Given the description of an element on the screen output the (x, y) to click on. 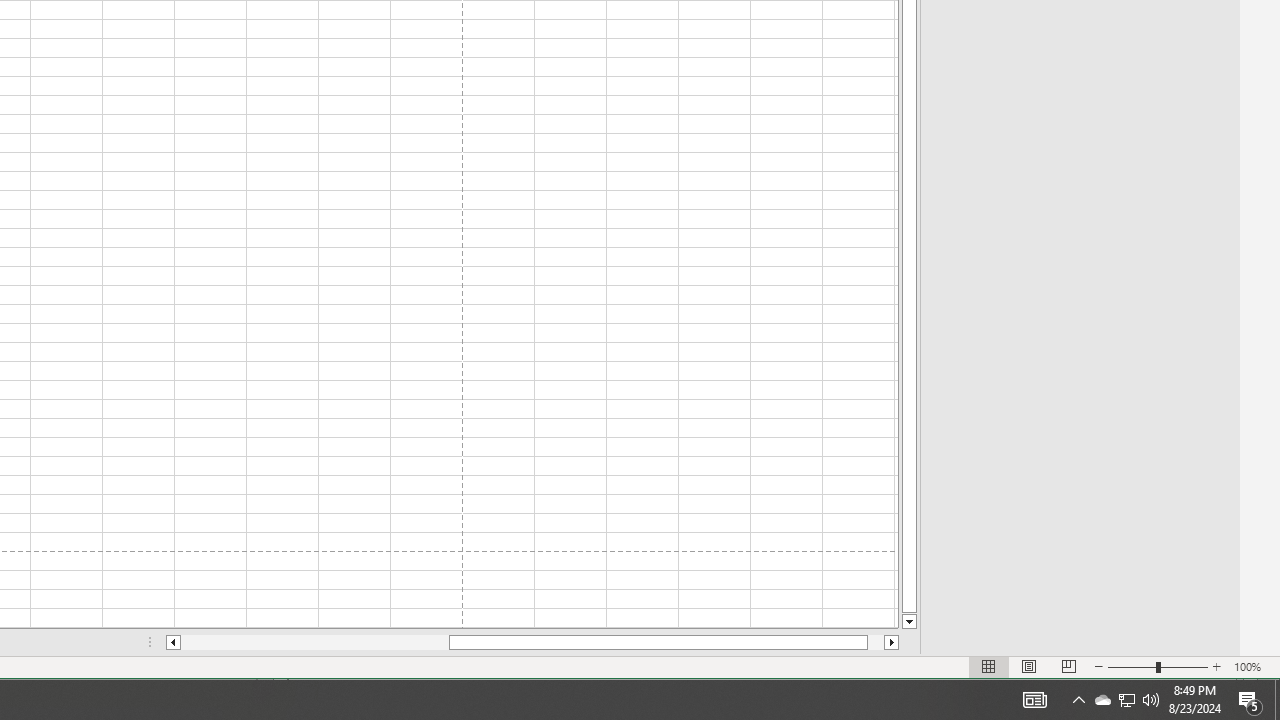
Action Center, 5 new notifications (1250, 699)
